Given the description of an element on the screen output the (x, y) to click on. 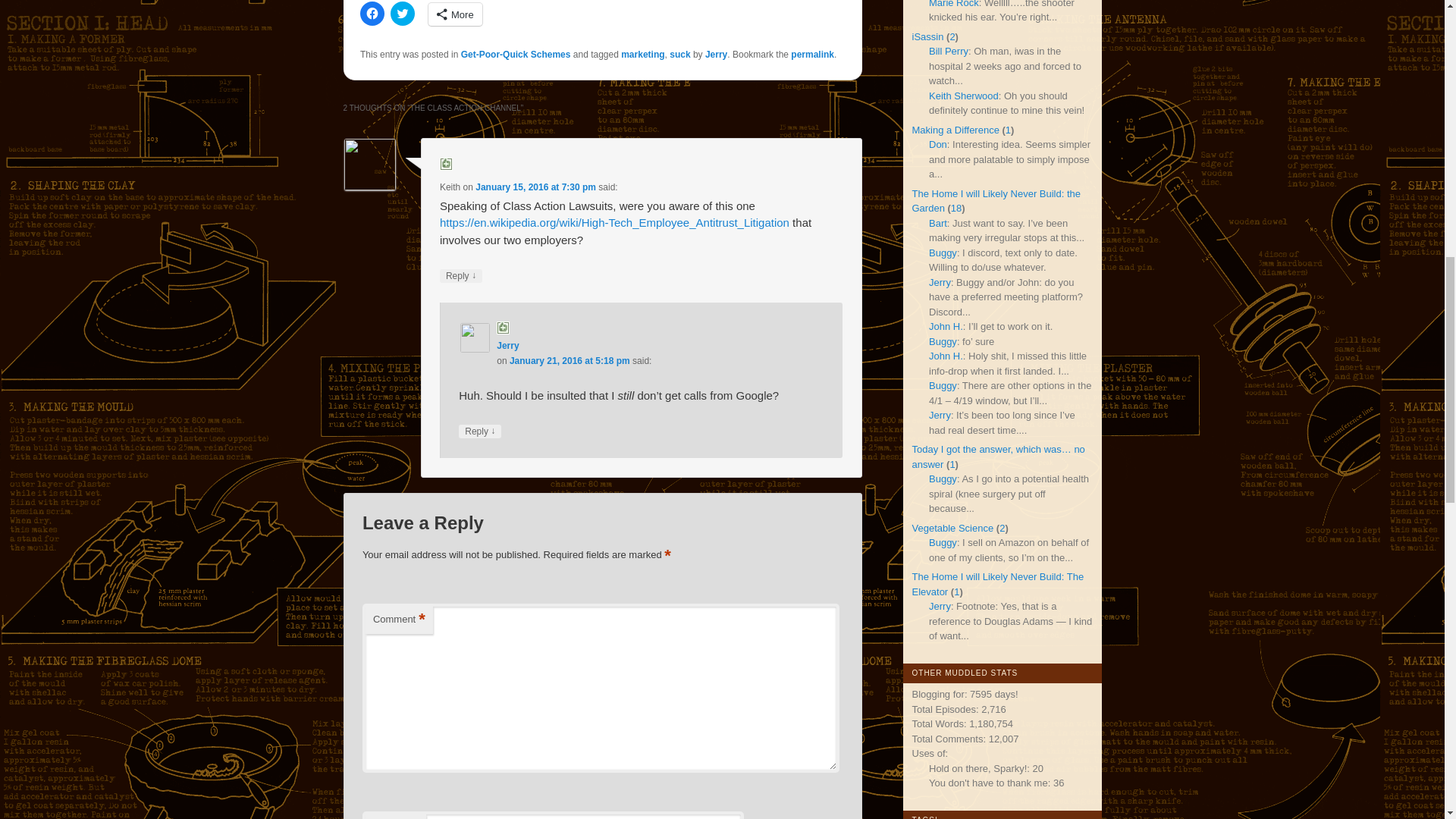
Get-Poor-Quick Schemes (515, 54)
January 15, 2016 at 7:30 pm (535, 186)
permalink (812, 54)
Permalink to The Class Action Channel (812, 54)
More (454, 14)
Click to share on Facebook (371, 13)
marketing (642, 54)
suck (679, 54)
Jerry (507, 345)
January 21, 2016 at 5:18 pm (569, 360)
